Given the description of an element on the screen output the (x, y) to click on. 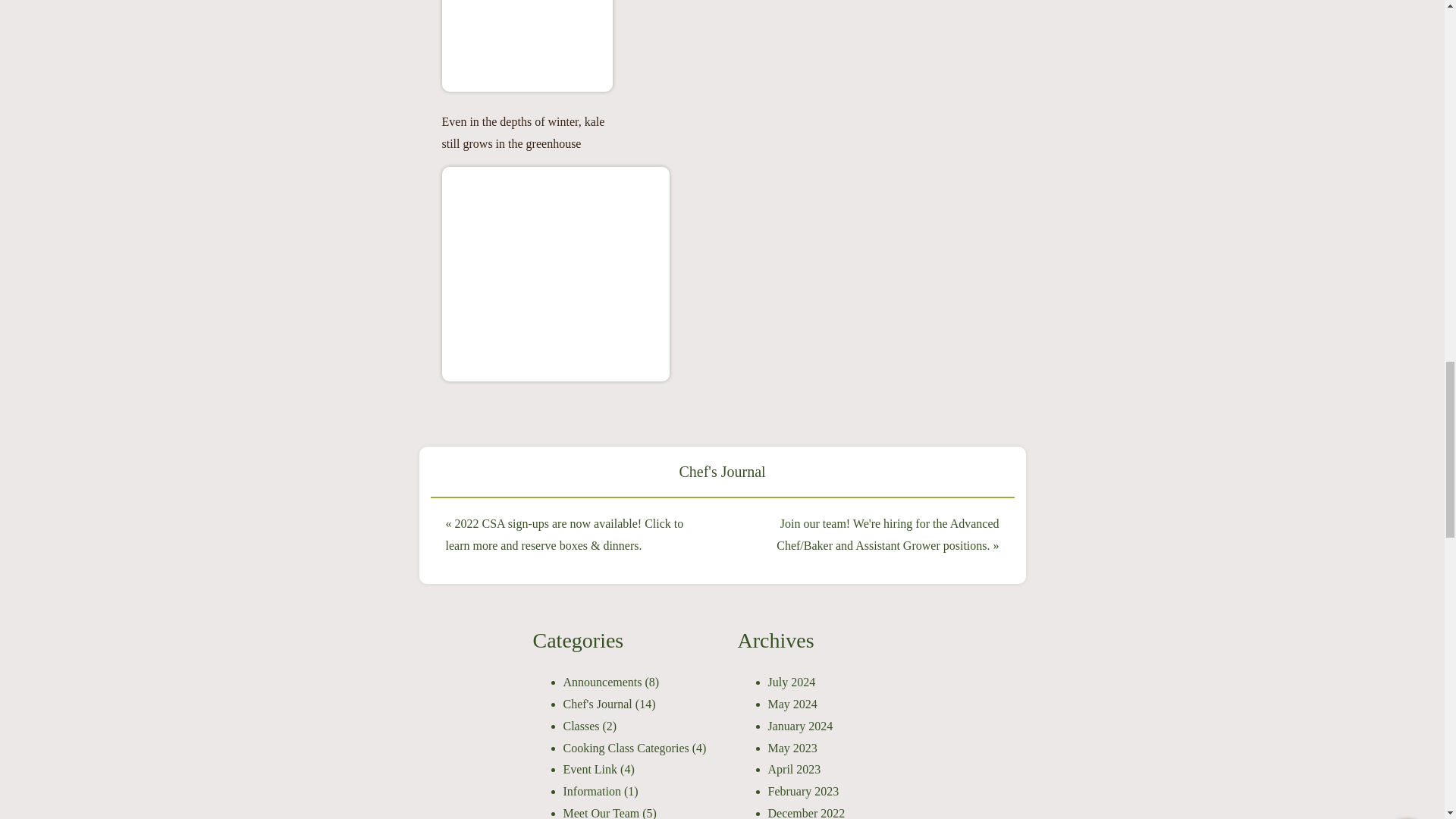
Information (591, 790)
Chef's Journal (596, 703)
May 2023 (791, 748)
Classes (580, 725)
April 2023 (794, 768)
July 2024 (791, 681)
Event Link (589, 768)
Cooking Class Categories (625, 748)
January 2024 (799, 725)
December 2022 (805, 812)
May 2024 (791, 703)
Chef's Journal (721, 471)
Meet Our Team (600, 812)
February 2023 (802, 790)
Announcements (602, 681)
